Given the description of an element on the screen output the (x, y) to click on. 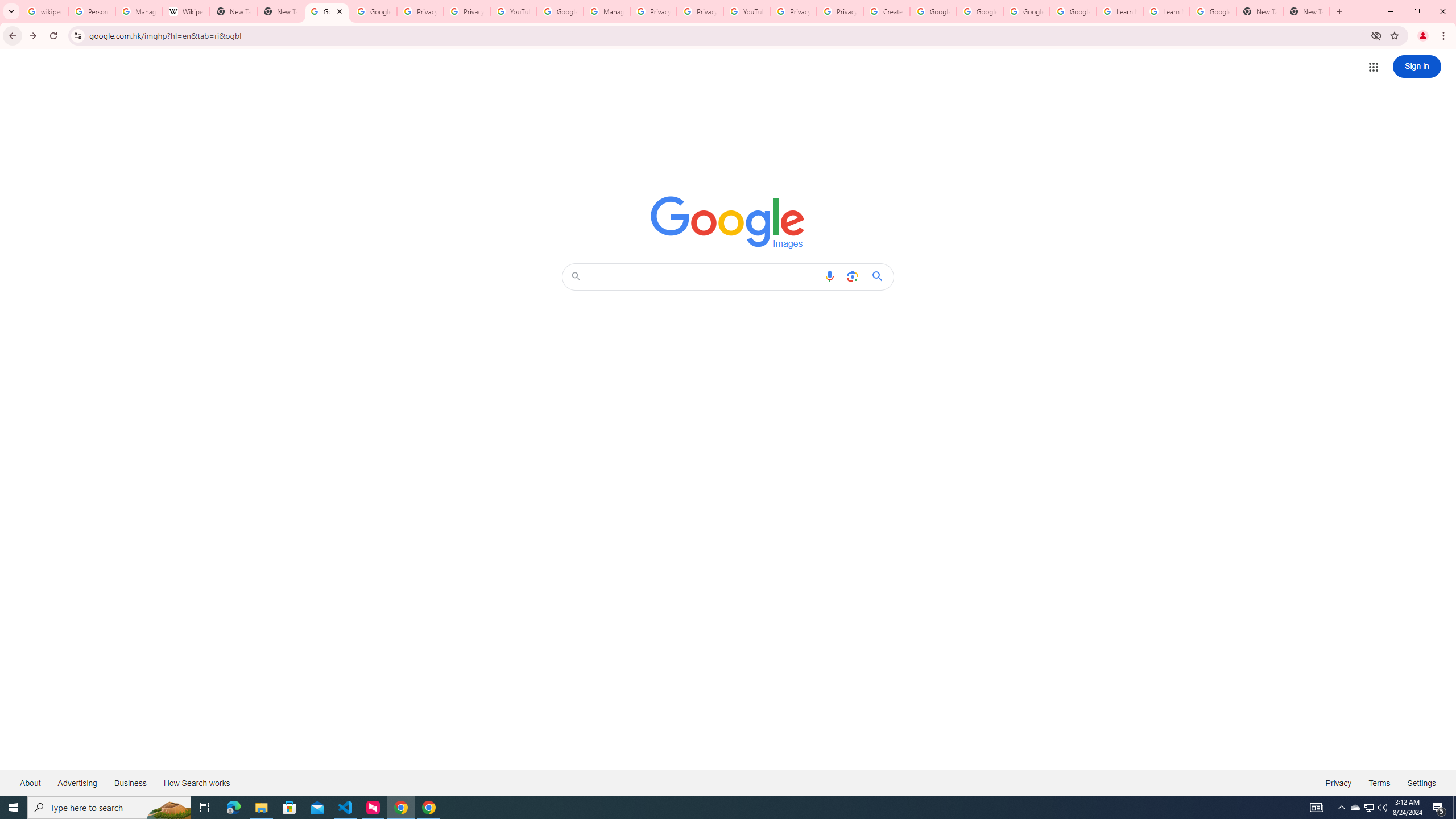
About (30, 782)
New Tab (279, 11)
YouTube (745, 11)
Google Account Help (980, 11)
Google Account Help (1073, 11)
Manage your Location History - Google Search Help (138, 11)
